Given the description of an element on the screen output the (x, y) to click on. 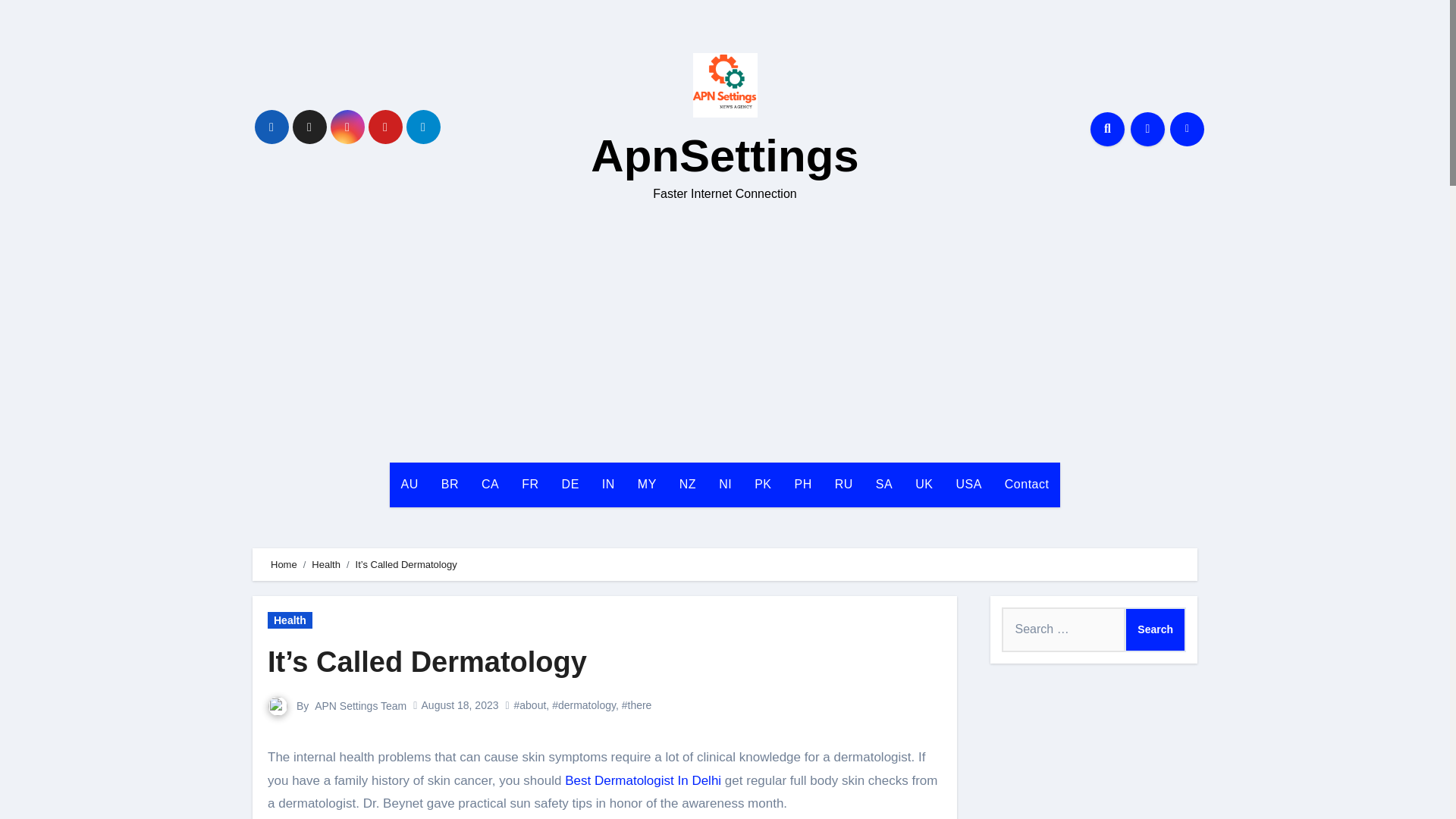
Health (325, 564)
Home (283, 564)
CA (490, 484)
APN Settings Team (360, 705)
DE (570, 484)
NZ (687, 484)
BR (449, 484)
AU (409, 484)
SA (884, 484)
RU (844, 484)
